Given the description of an element on the screen output the (x, y) to click on. 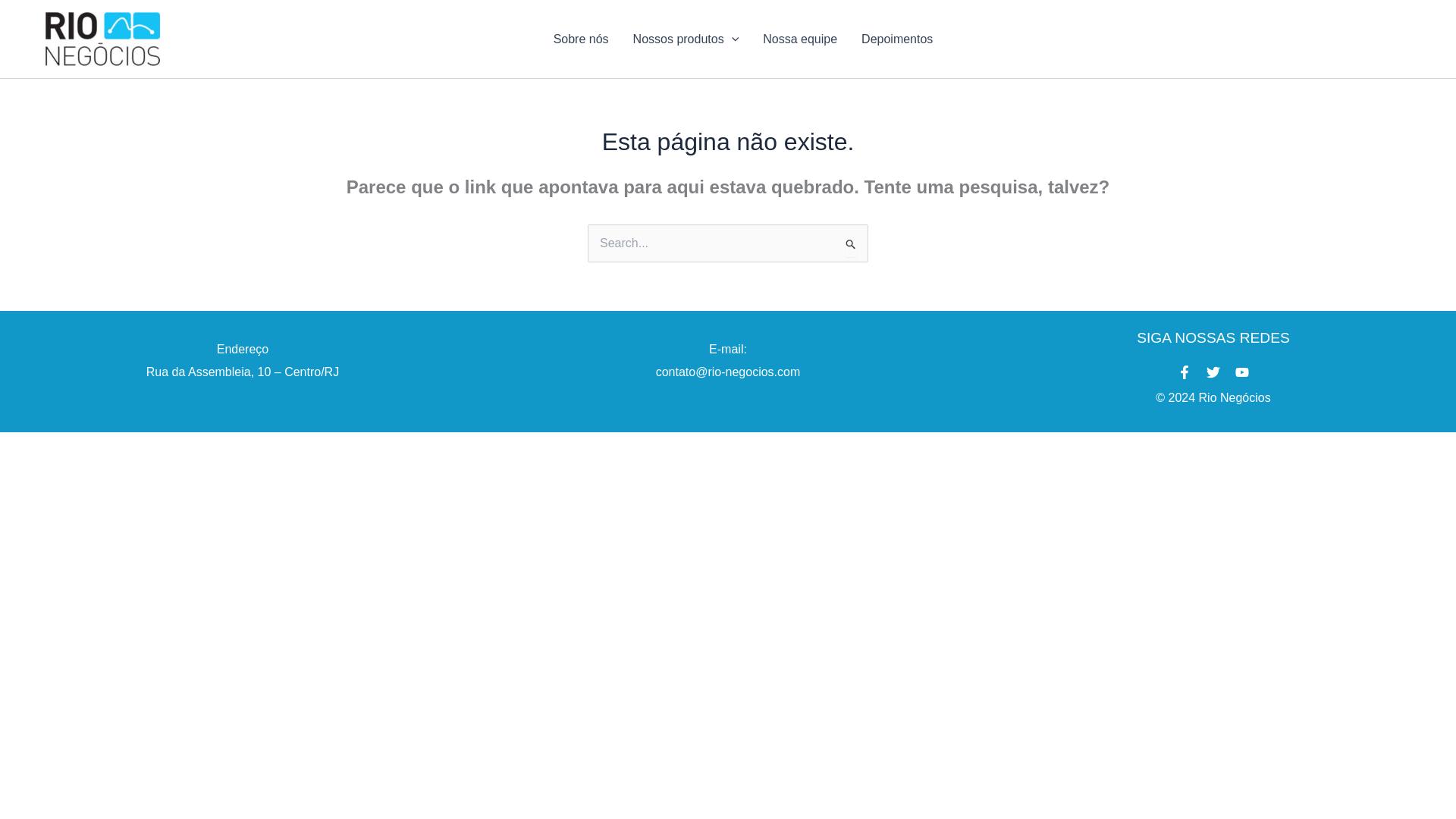
Nossa equipe (799, 39)
Depoimentos (896, 39)
Nossos produtos (686, 39)
Twitter (1213, 372)
Youtube (1241, 372)
Facebook-f (1184, 372)
